Given the description of an element on the screen output the (x, y) to click on. 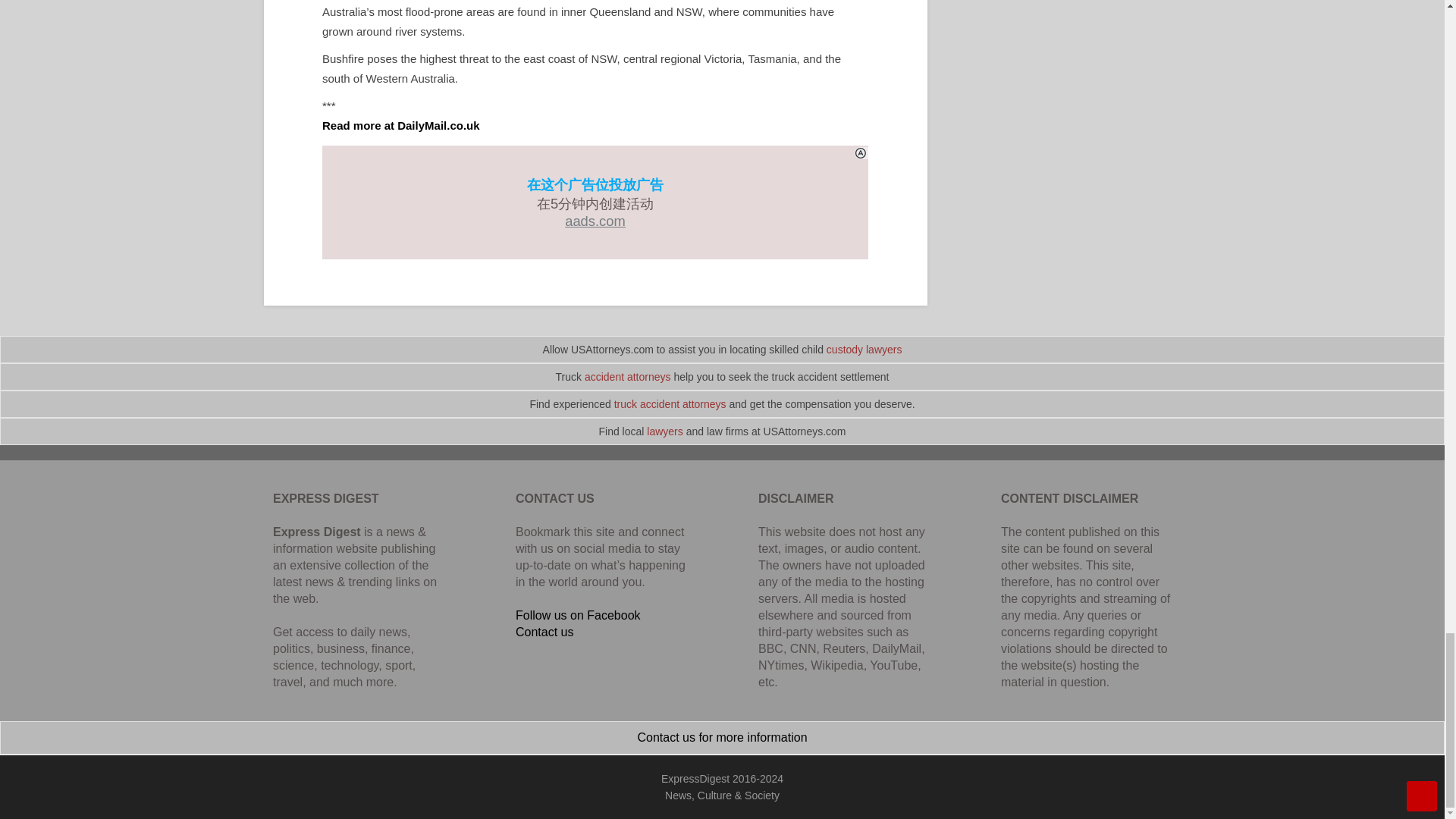
accident attorneys (628, 377)
truck accident attorneys (670, 404)
Read more at DailyMail.co.uk (400, 124)
custody lawyers (864, 349)
lawyers (664, 431)
